Given the description of an element on the screen output the (x, y) to click on. 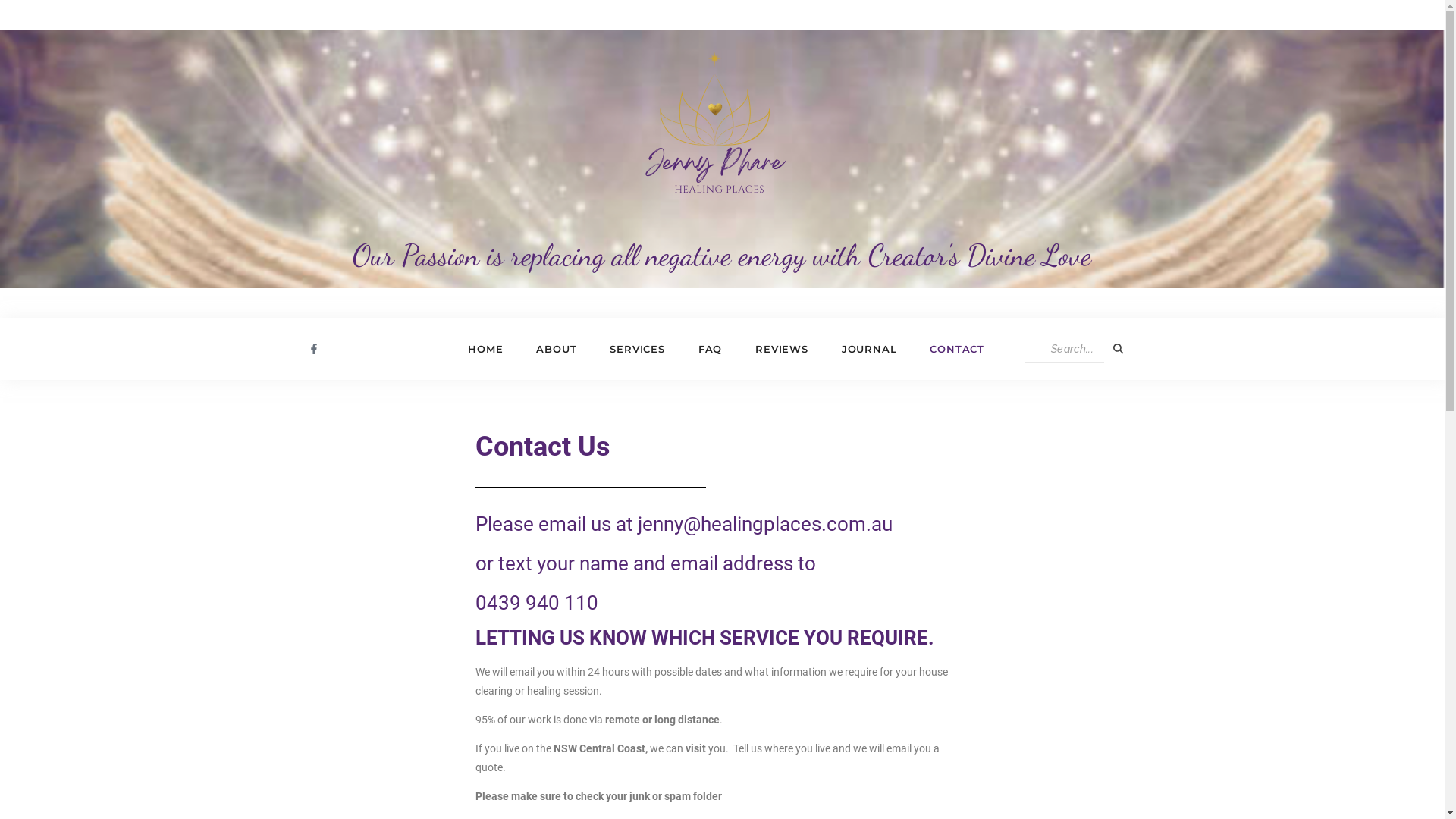
ABOUT Element type: text (556, 348)
FAQ Element type: text (710, 348)
HOME Element type: text (484, 348)
REVIEWS Element type: text (781, 348)
Search Element type: hover (1064, 349)
CONTACT Element type: text (956, 348)
JOURNAL Element type: text (869, 348)
SERVICES Element type: text (636, 348)
